Given the description of an element on the screen output the (x, y) to click on. 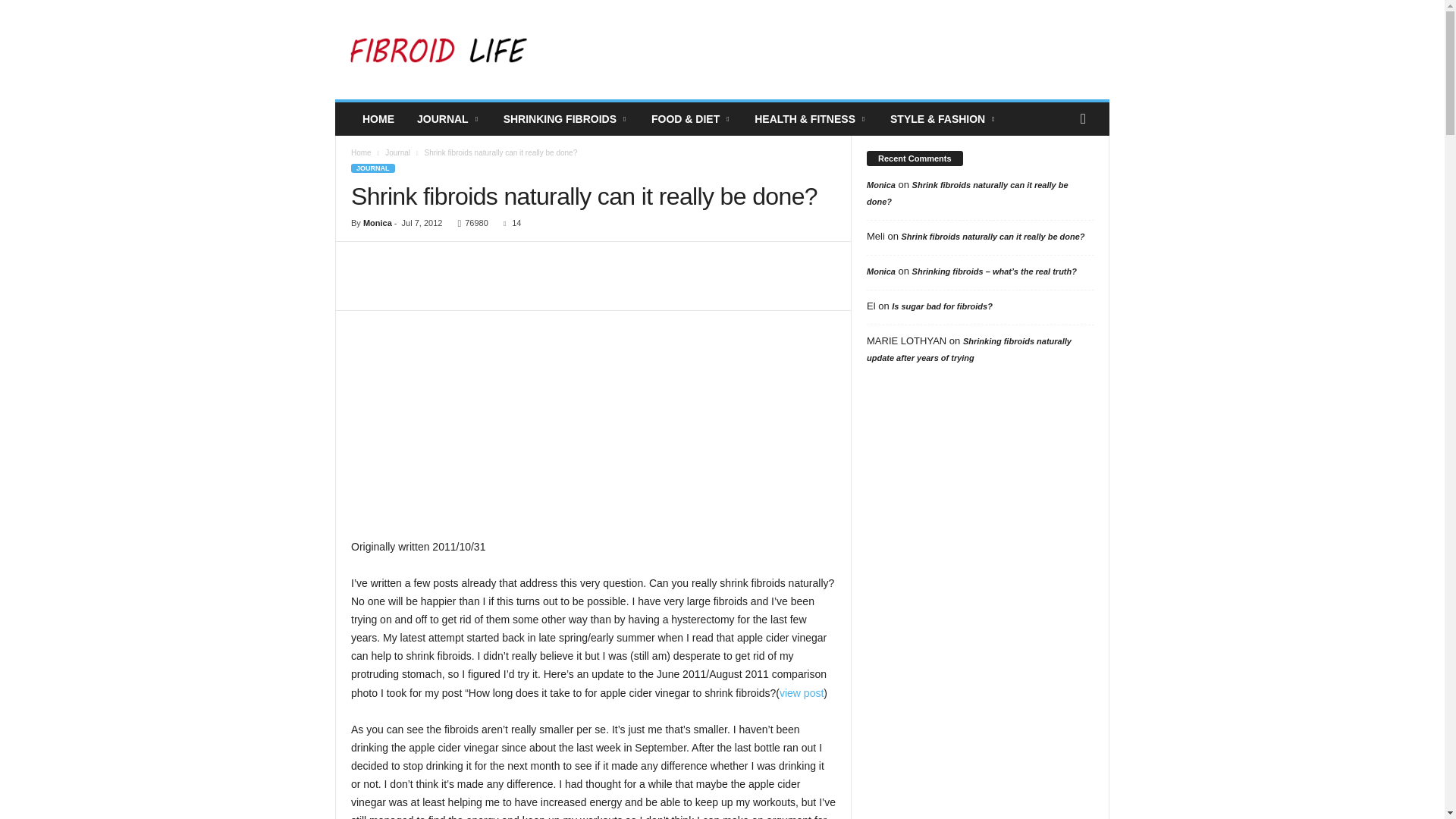
Fibroid Life (437, 49)
Fibroid Life (438, 49)
HOME (378, 118)
JOURNAL (449, 118)
SHRINKING FIBROIDS (566, 118)
